Given the description of an element on the screen output the (x, y) to click on. 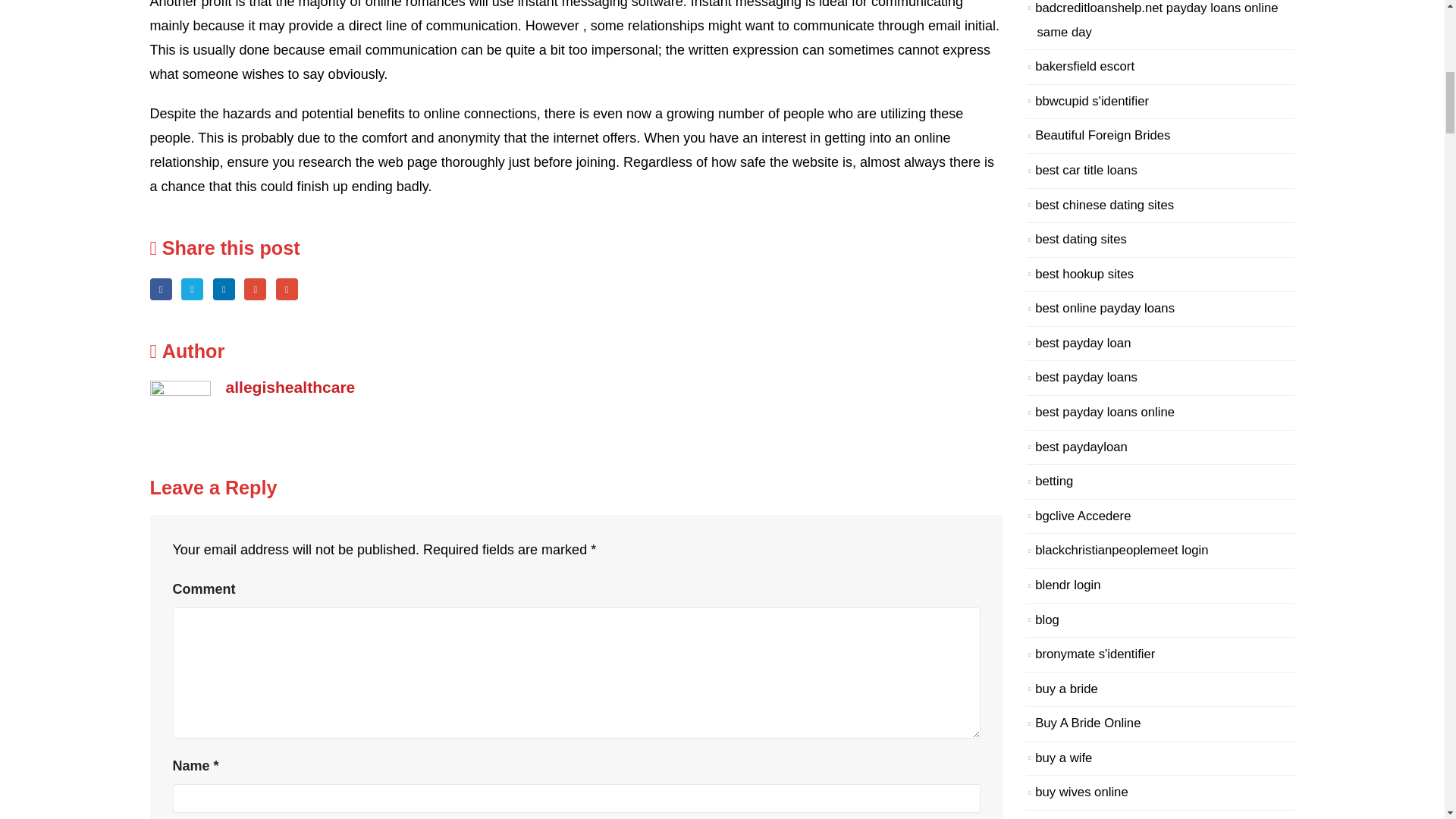
Posts by allegishealthcare (290, 386)
LinkedIn (223, 289)
Facebook (160, 289)
Twitter (191, 289)
Email (287, 289)
allegishealthcare (290, 386)
Email (287, 289)
LinkedIn (223, 289)
Twitter (191, 289)
Facebook (160, 289)
